Given the description of an element on the screen output the (x, y) to click on. 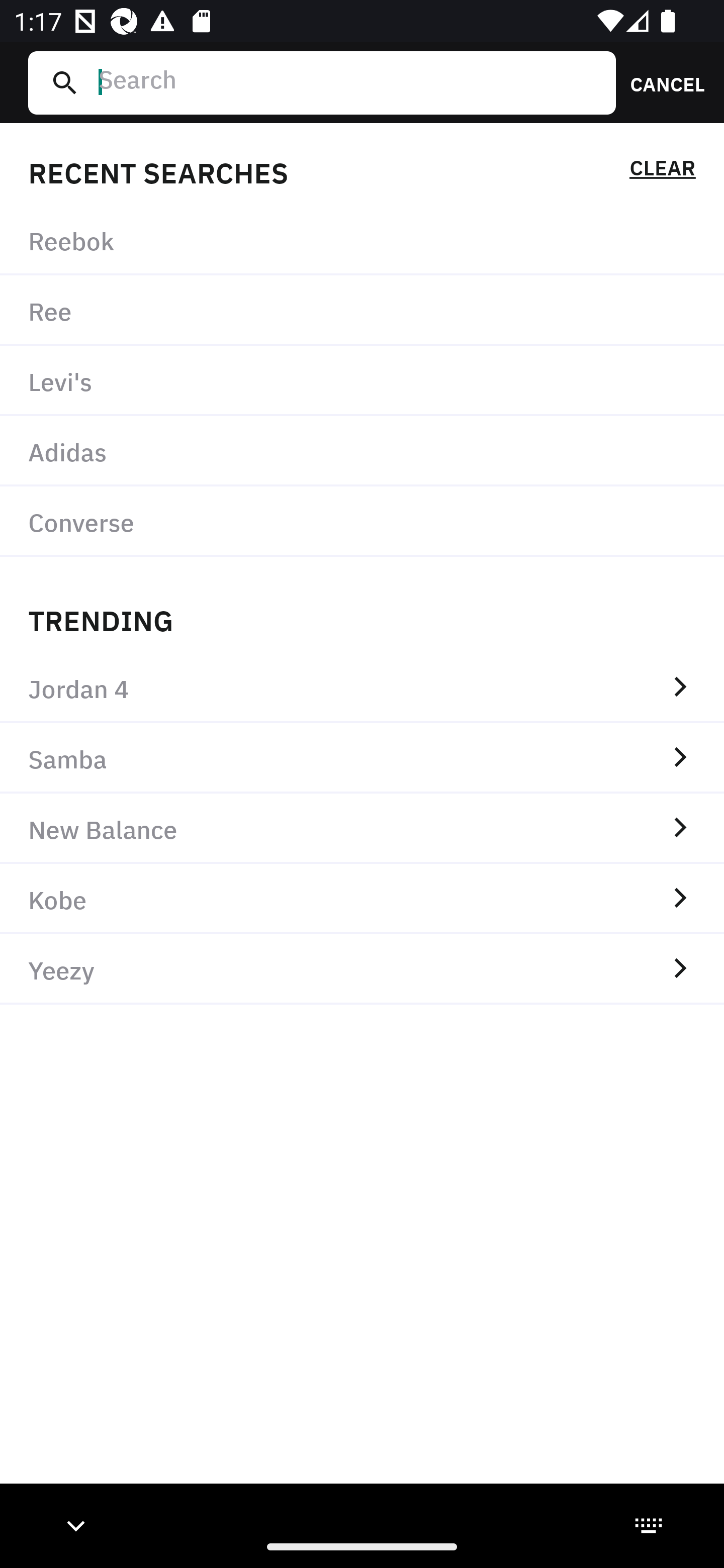
CANCEL (660, 82)
Search (349, 82)
CLEAR (662, 170)
Reebok (362, 240)
Ree (362, 310)
Levi's (362, 380)
Adidas (362, 450)
Converse (362, 521)
Jordan 4  (362, 687)
Samba  (362, 757)
New Balance  (362, 828)
Kobe  (362, 898)
Yeezy  (362, 969)
